Given the description of an element on the screen output the (x, y) to click on. 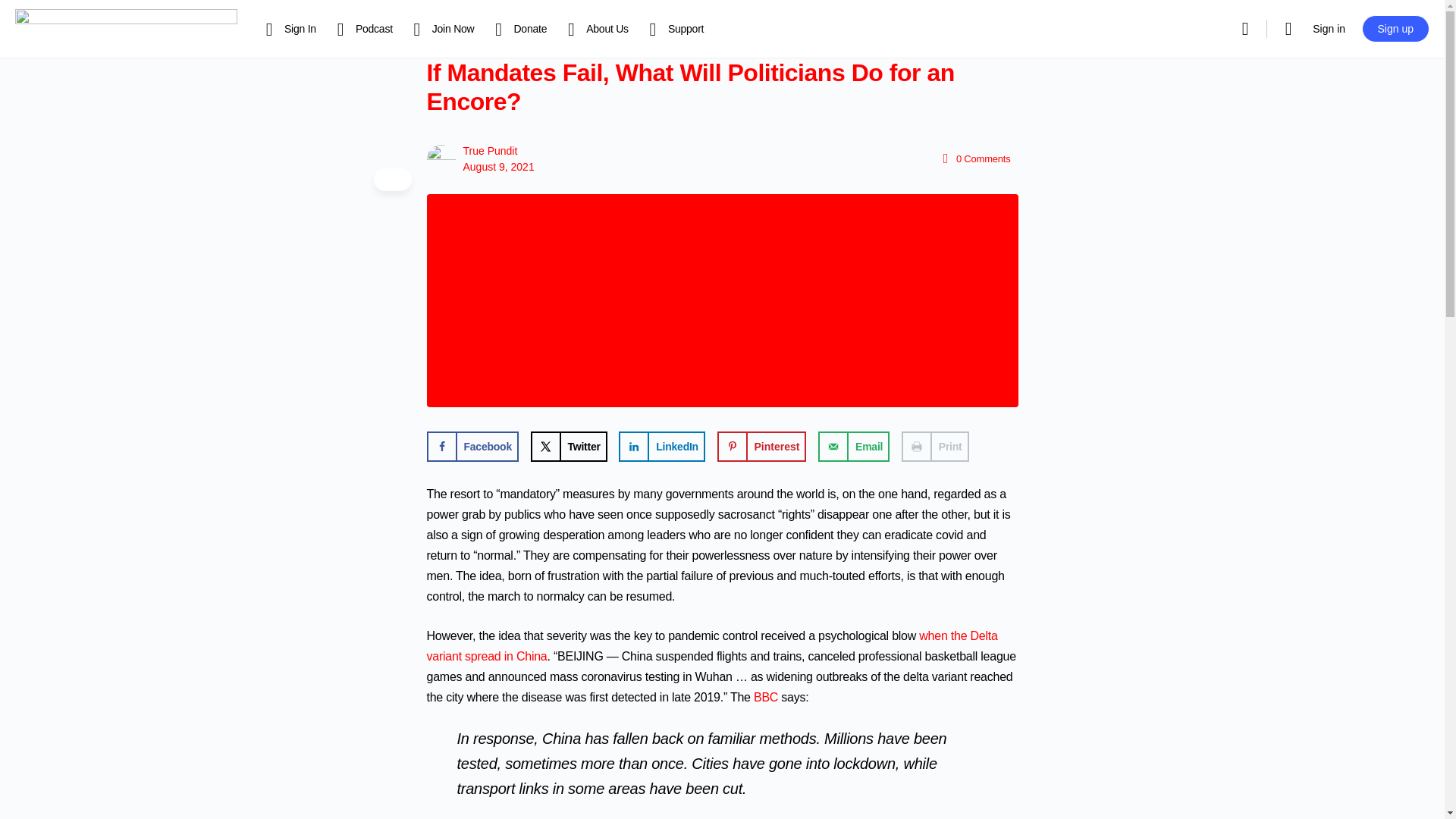
Donate (518, 28)
Home (288, 24)
BBC (765, 697)
Print (935, 446)
Podcast (362, 28)
August 9, 2021 (498, 166)
Sign up (1395, 28)
About Us (595, 28)
0 Comments (974, 158)
Join Now (440, 28)
when the Delta variant spread in China (711, 645)
Pinterest (761, 446)
Send over email (853, 446)
Email (853, 446)
Sign In (287, 28)
